Given the description of an element on the screen output the (x, y) to click on. 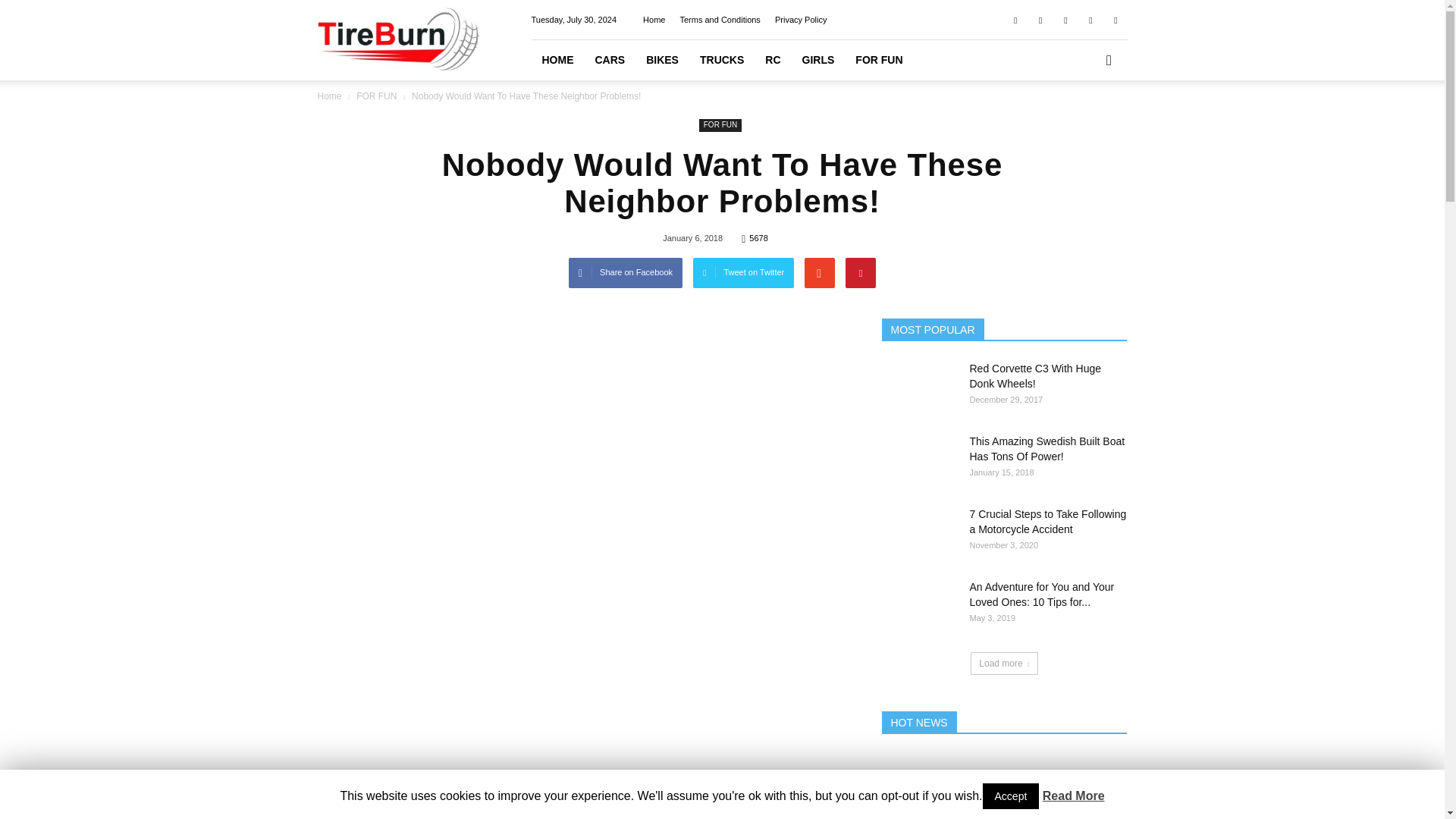
RC (772, 60)
View all posts in FOR FUN (377, 95)
Home (654, 19)
FOR FUN (719, 124)
GIRLS (818, 60)
Privacy Policy (800, 19)
FOR FUN (377, 95)
Advertisement (580, 717)
HOME (557, 60)
Youtube (1114, 19)
VKontakte (1090, 19)
Home (328, 95)
CARS (608, 60)
BIKES (661, 60)
FOR FUN (878, 60)
